Given the description of an element on the screen output the (x, y) to click on. 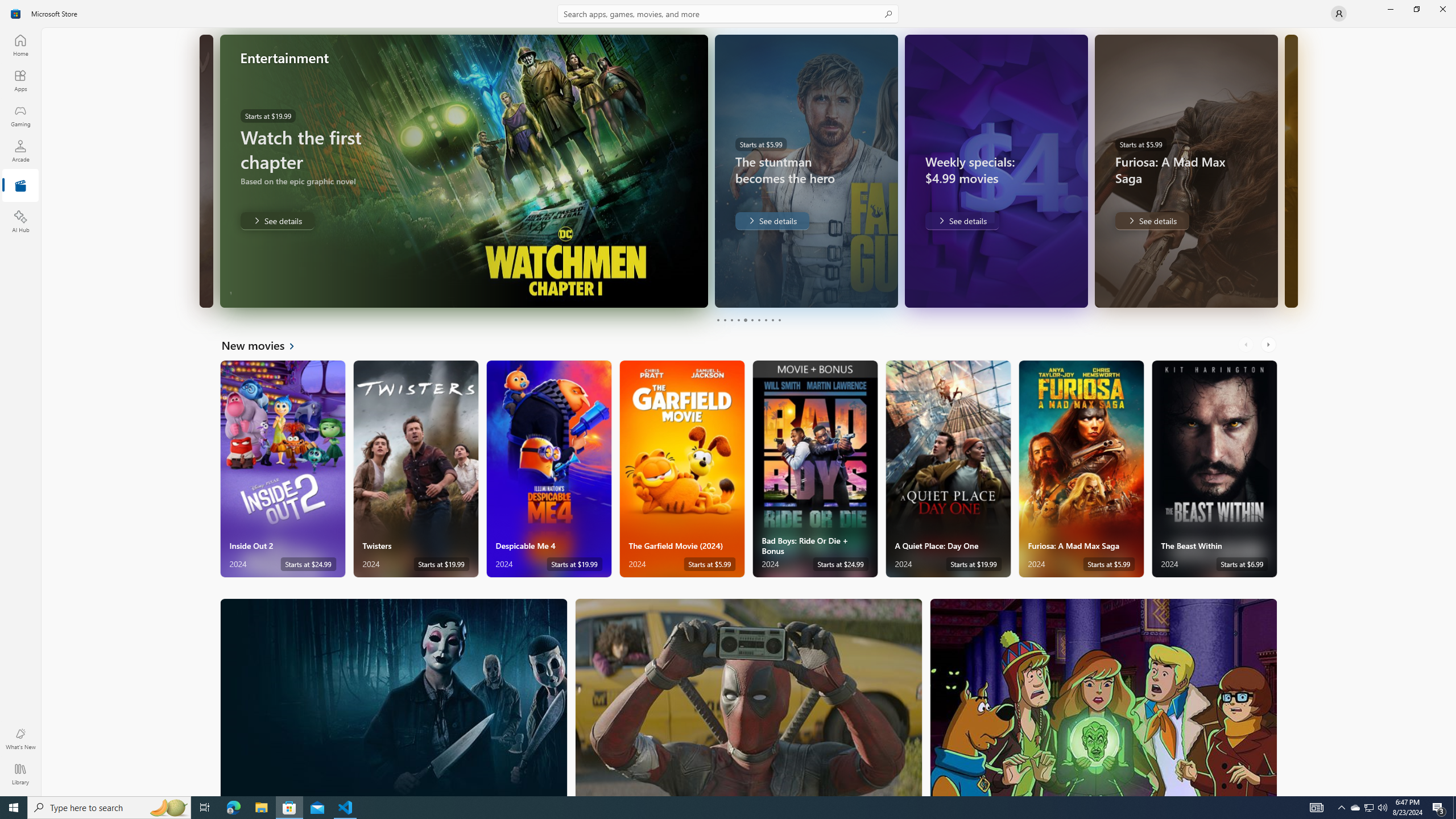
See all  New movies (264, 345)
Page 9 (772, 319)
Page 7 (758, 319)
Page 8 (764, 319)
AutomationID: NavigationControl (728, 398)
The Beast Within. Starts at $6.99   (1213, 469)
Bad Boys: Ride Or Die + Bonus. Starts at $24.99   (814, 469)
Page 2 (724, 319)
User profile (1338, 13)
The Garfield Movie (2024). Starts at $5.99   (681, 469)
